Given the description of an element on the screen output the (x, y) to click on. 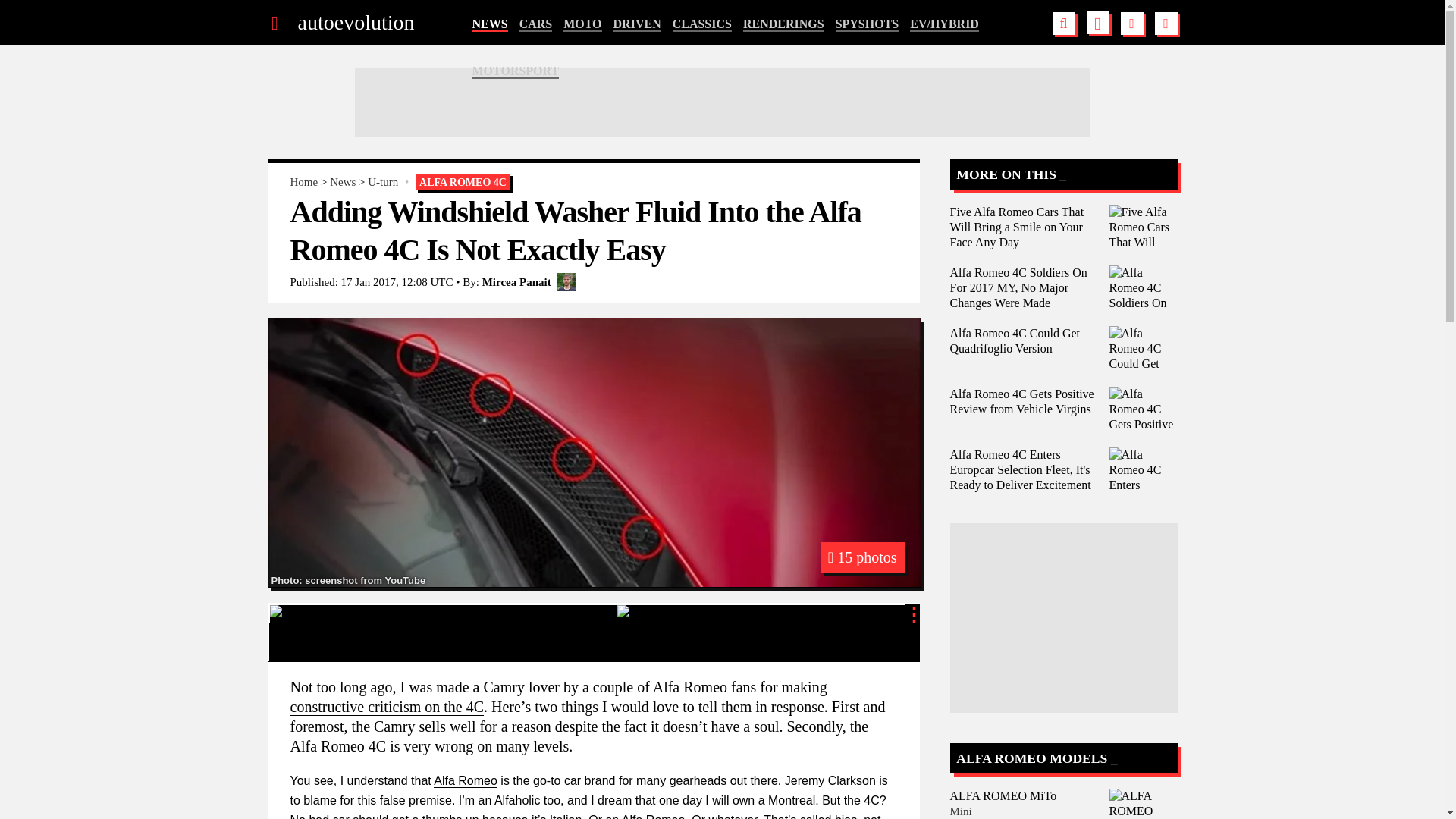
SPYSHOTS (867, 24)
MOTO (582, 24)
News (342, 182)
MOTORSPORT (515, 71)
NEWS (488, 24)
autoevolution (355, 22)
DRIVEN (636, 24)
U-turn (382, 182)
CLASSICS (702, 24)
Home (303, 182)
